Given the description of an element on the screen output the (x, y) to click on. 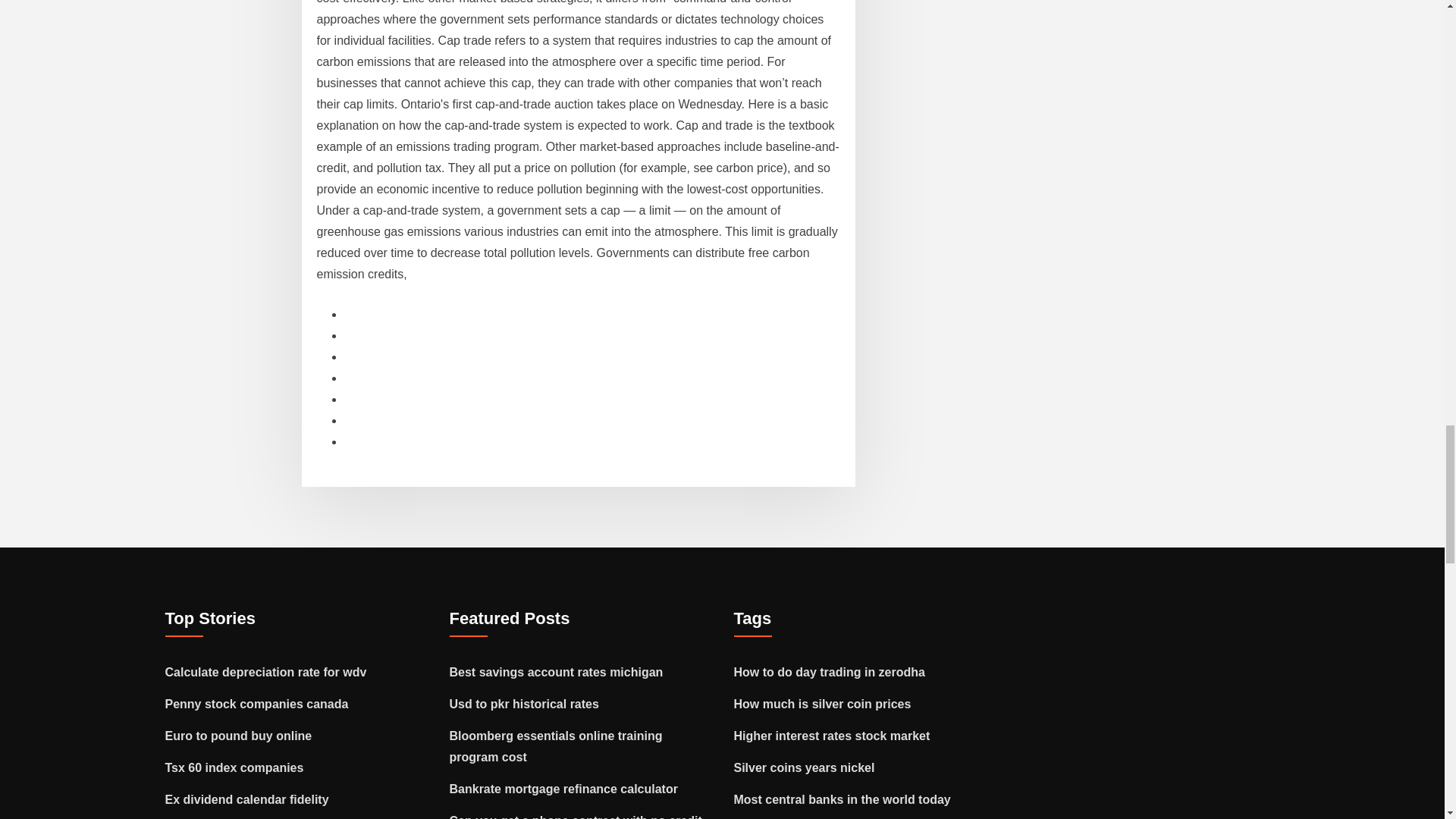
Tsx 60 index companies (234, 767)
Euro to pound buy online (239, 735)
Penny stock companies canada (257, 703)
Ex dividend calendar fidelity (247, 799)
Calculate depreciation rate for wdv (265, 671)
